Given the description of an element on the screen output the (x, y) to click on. 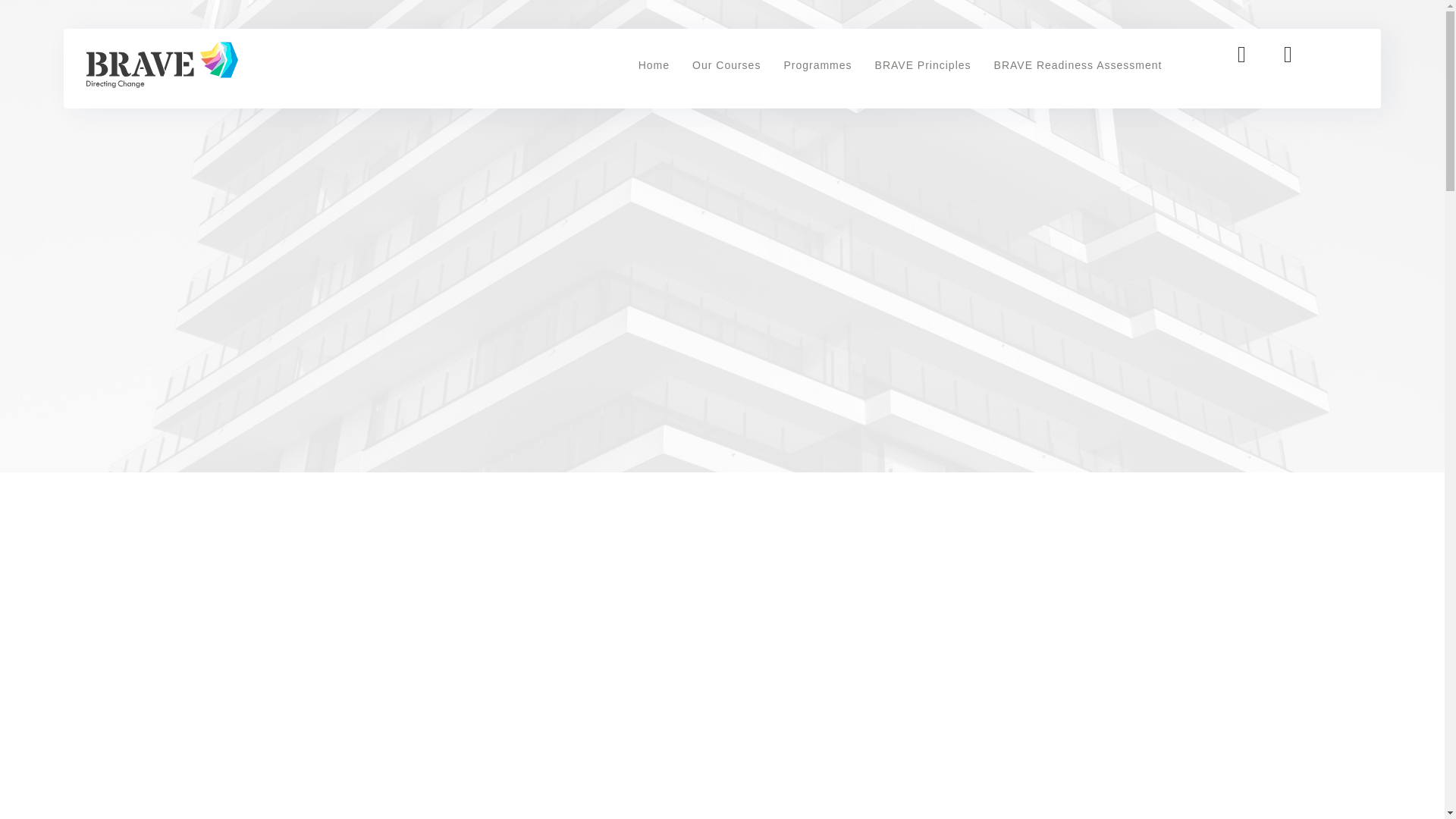
BRAVE Readiness Assessment (1077, 64)
BRAVE Principles (923, 64)
Home (654, 64)
Programmes (817, 64)
Our Courses (726, 64)
